Given the description of an element on the screen output the (x, y) to click on. 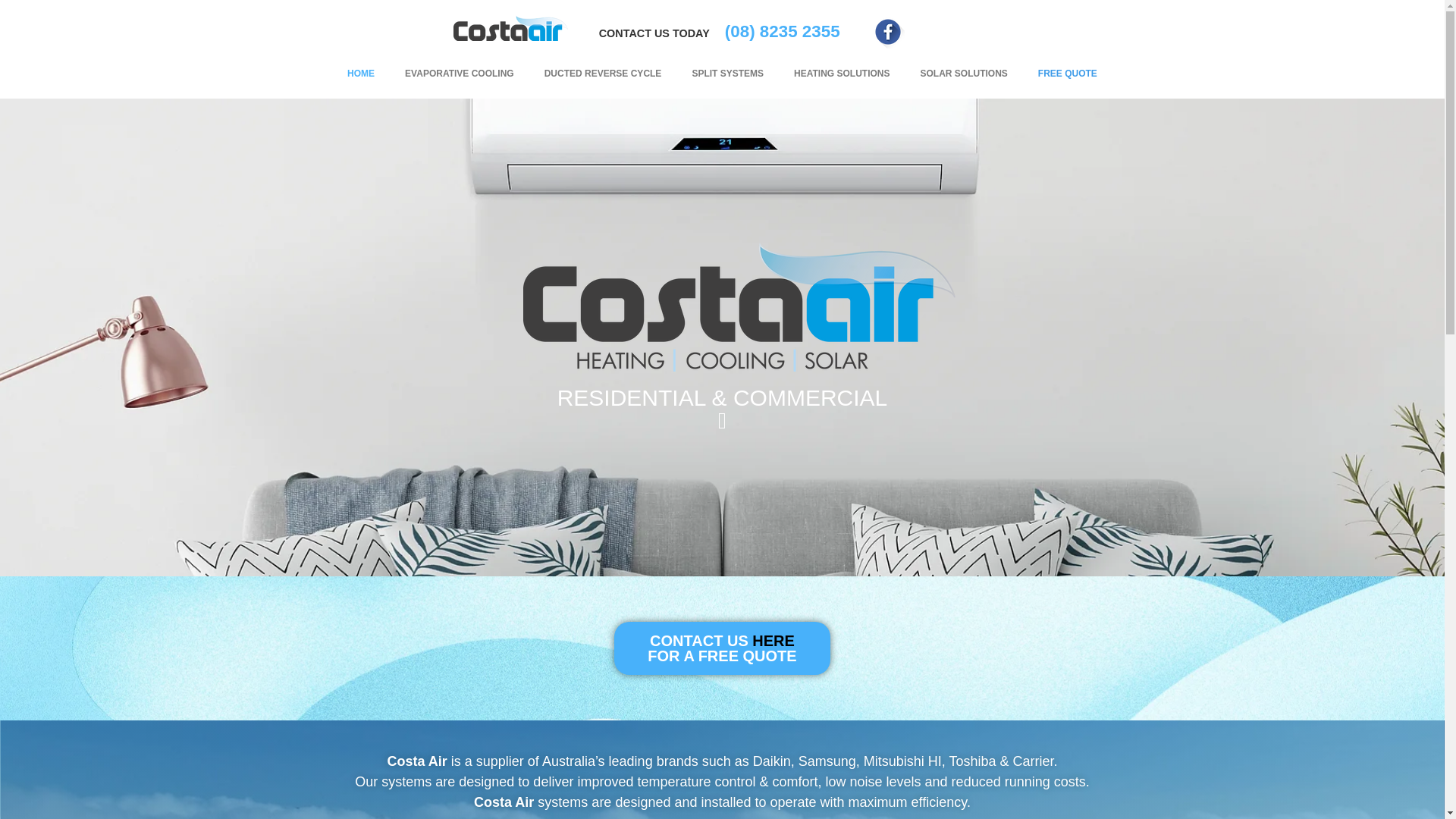
HEATING SOLUTIONS Element type: text (841, 73)
SOLAR SOLUTIONS Element type: text (963, 73)
CONTACT US HERE FOR A FREE QUOTE Element type: text (722, 647)
EVAPORATIVE COOLING Element type: text (459, 73)
(08) 8235 2355 Element type: text (782, 30)
FREE QUOTE Element type: text (1067, 73)
DUCTED REVERSE CYCLE Element type: text (603, 73)
HOME Element type: text (360, 73)
SPLIT SYSTEMS Element type: text (727, 73)
